Given the description of an element on the screen output the (x, y) to click on. 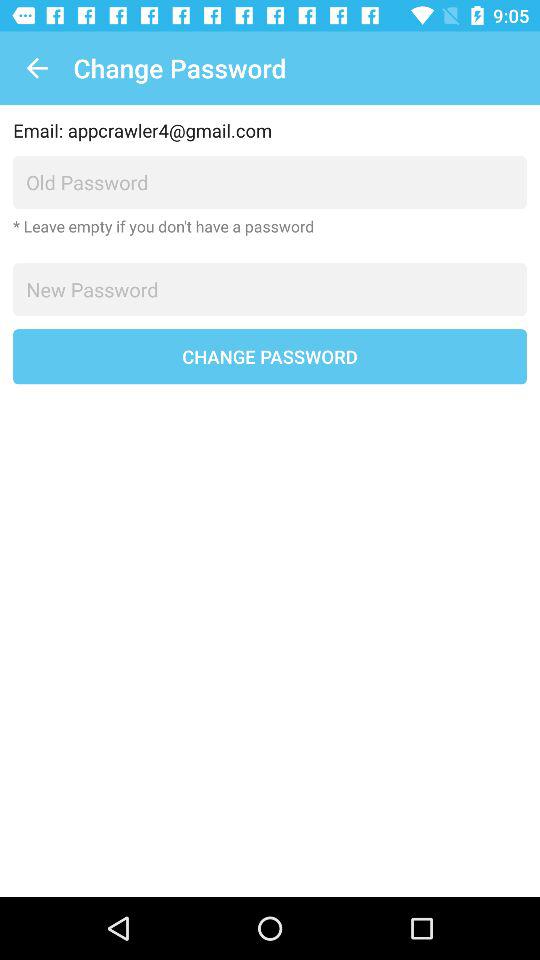
press the item above email appcrawler4 gmail item (36, 68)
